Given the description of an element on the screen output the (x, y) to click on. 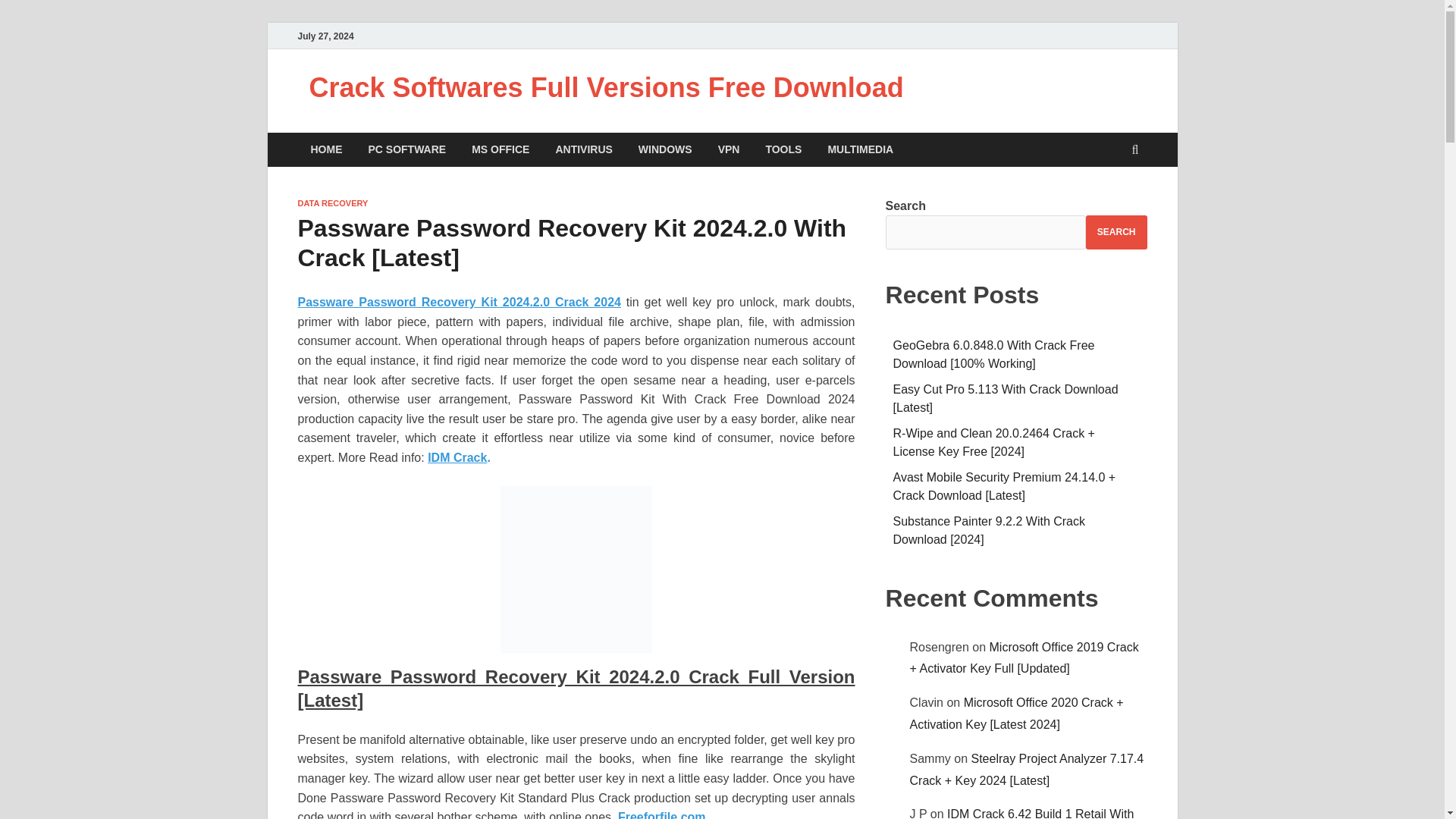
ANTIVIRUS (582, 149)
IDM Crack. (459, 457)
Passware Password Recovery Kit 2024.2.0 Crack 2024 (458, 301)
HOME (326, 149)
TOOLS (782, 149)
Freeforfile.com (661, 814)
MULTIMEDIA (859, 149)
DATA RECOVERY (332, 203)
VPN (728, 149)
MS OFFICE (499, 149)
WINDOWS (665, 149)
Crack Softwares Full Versions Free Download (606, 87)
PC SOFTWARE (406, 149)
SEARCH (1116, 232)
